Given the description of an element on the screen output the (x, y) to click on. 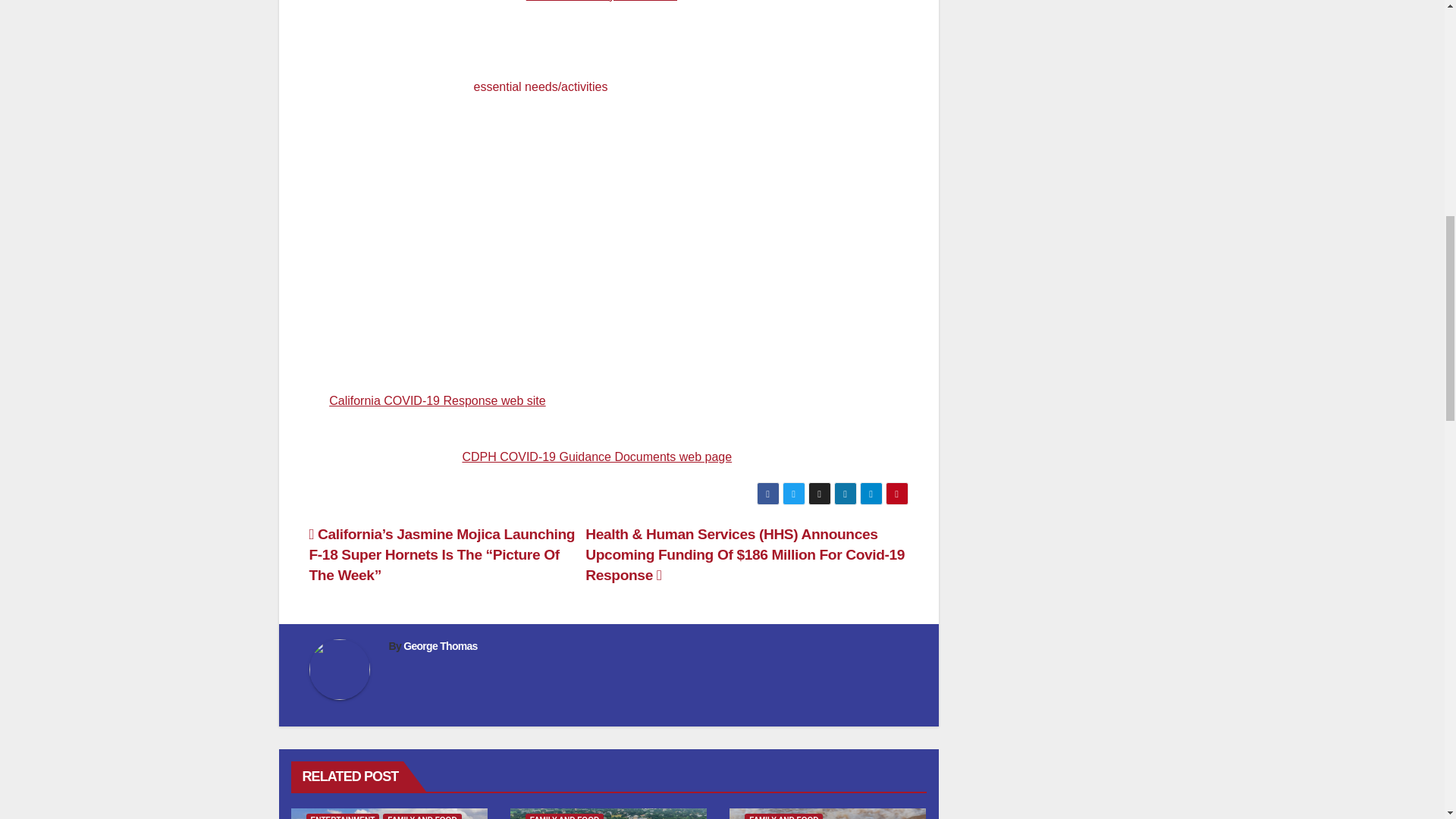
California COVID-19 Response Page (436, 400)
California COVID-19 Essential Needs Webpage (540, 86)
CDPH COVID-19 Guidance Documents web page (596, 456)
